Given the description of an element on the screen output the (x, y) to click on. 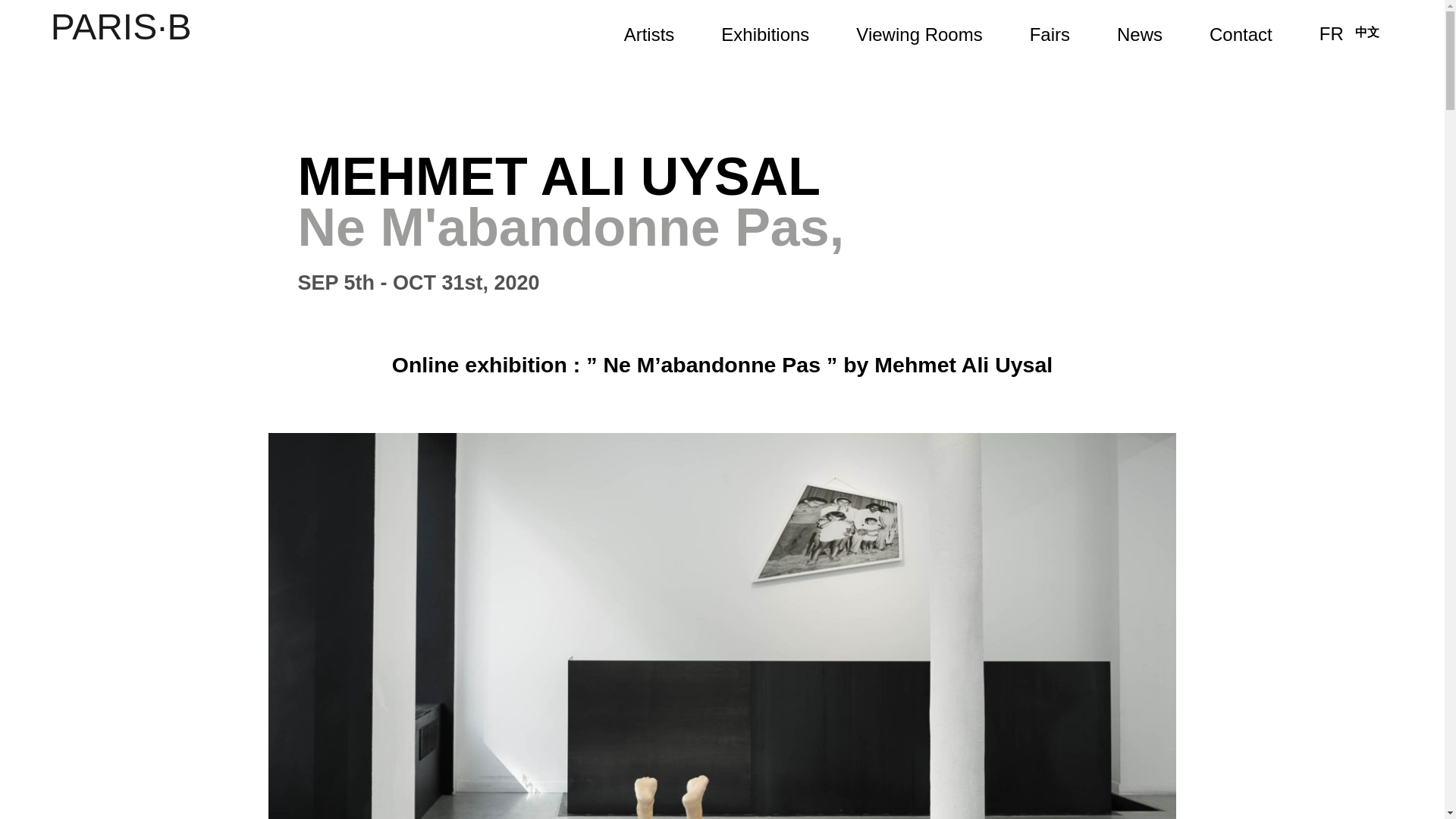
Fairs (1049, 34)
Exhibitions (764, 34)
FR (1331, 33)
News (1138, 34)
Represented Artists (649, 34)
Contact Us (1240, 34)
FR (1331, 33)
News about our Artists (1138, 34)
Latest Exhibitions (764, 34)
Viewing Rooms (918, 34)
